Given the description of an element on the screen output the (x, y) to click on. 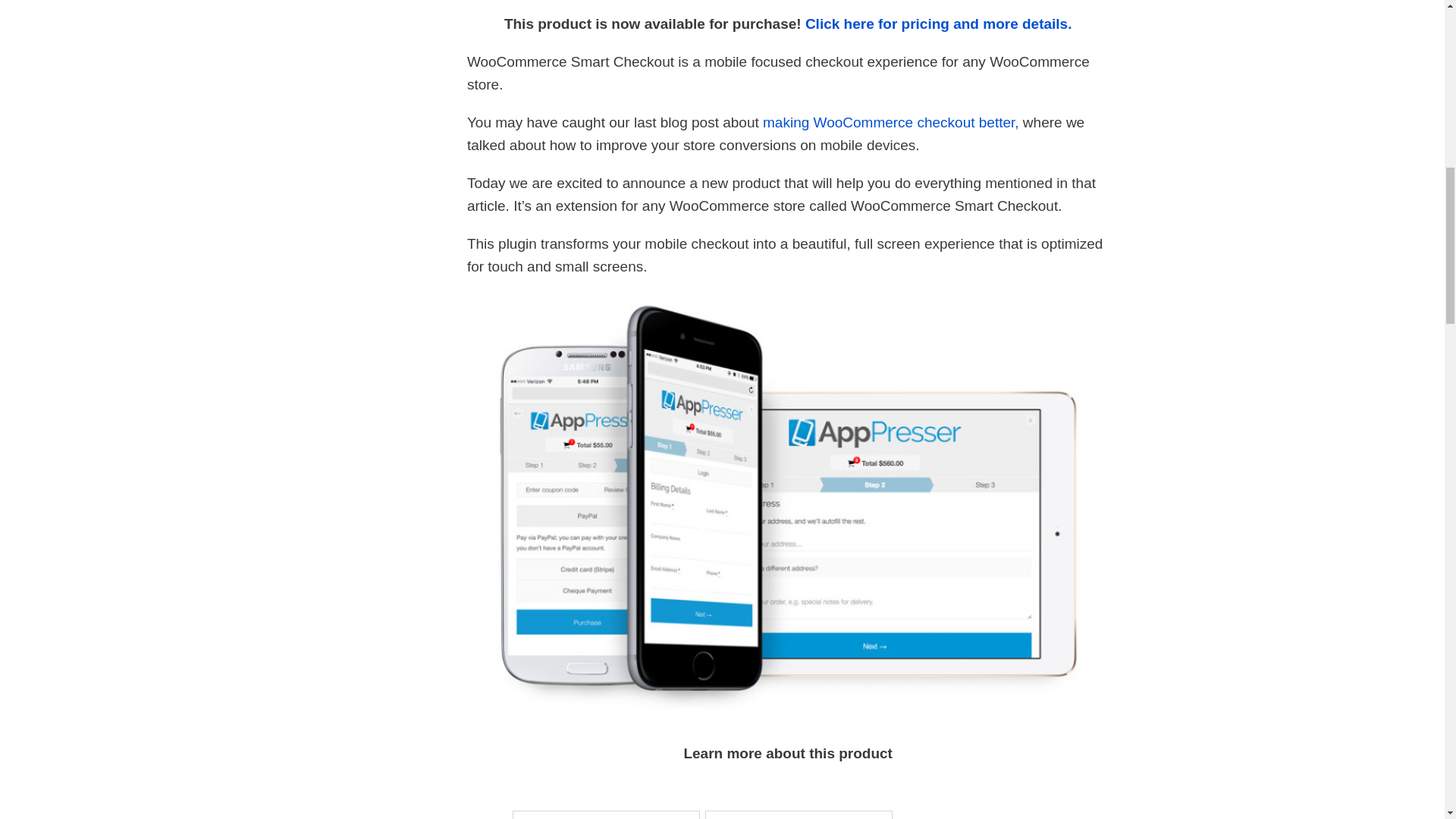
making WooCommerce checkout better, (890, 122)
Click here for pricing and more details. (938, 23)
